Given the description of an element on the screen output the (x, y) to click on. 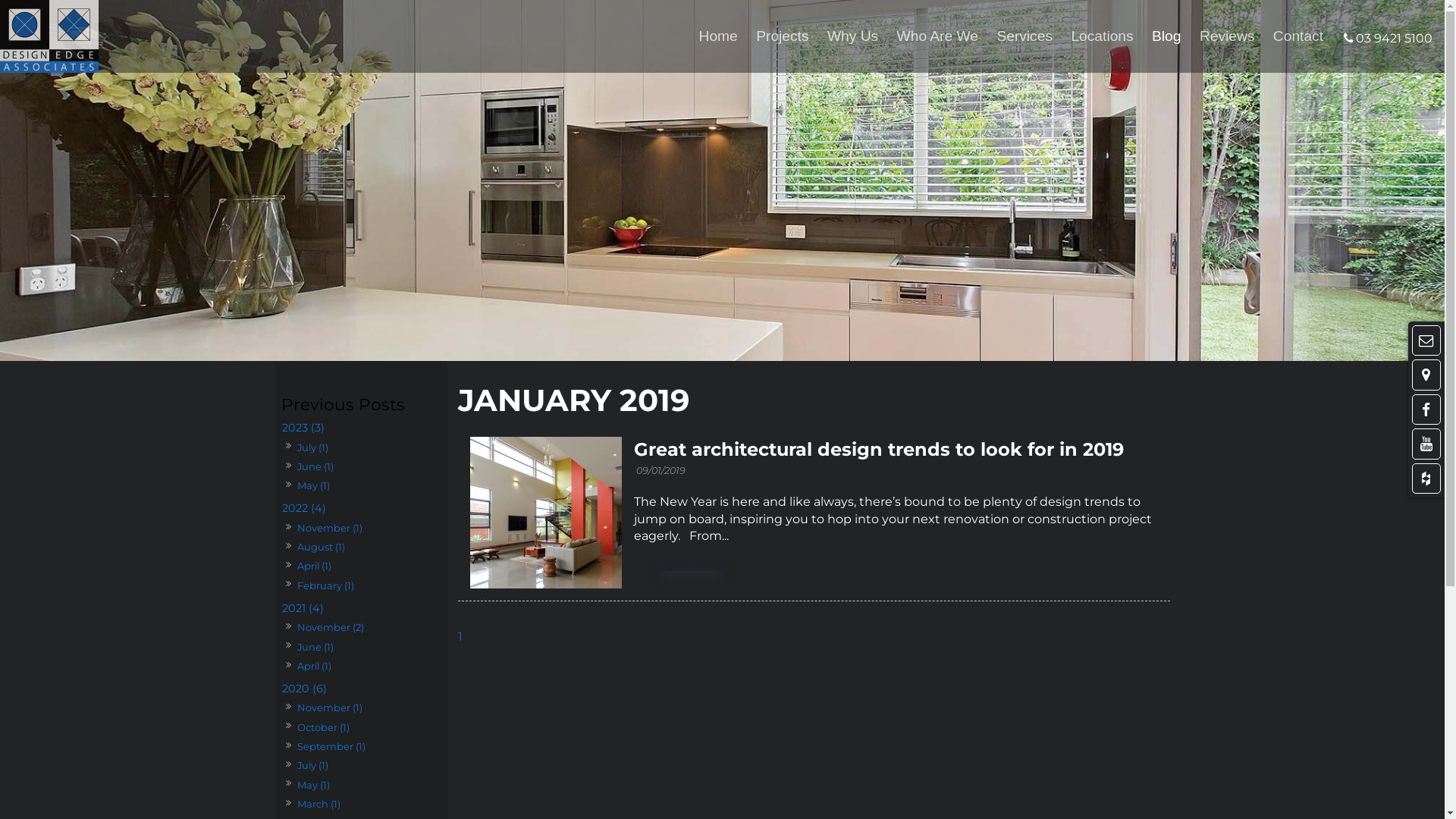
July (1) Element type: text (312, 765)
2020 (6) Element type: text (359, 687)
November (1) Element type: text (329, 527)
Projects Element type: text (781, 35)
April (1) Element type: text (313, 665)
August (1) Element type: text (320, 546)
Services Element type: text (1024, 35)
2021 (4) Element type: text (359, 607)
March (1) Element type: text (318, 803)
Why Us Element type: text (852, 35)
October (1) Element type: text (322, 726)
Read More Element type: text (690, 564)
Who Are We Element type: text (937, 35)
February (1) Element type: text (324, 584)
April (1) Element type: text (313, 565)
Home Element type: text (718, 35)
Read More Element type: text (691, 564)
Contact Element type: text (1297, 35)
July (1) Element type: text (312, 446)
May (1) Element type: text (312, 485)
November (1) Element type: text (329, 707)
Blog Element type: text (1166, 35)
Locations Element type: text (1101, 35)
September (1) Element type: text (330, 746)
November (2) Element type: text (329, 627)
June (1) Element type: text (314, 466)
2022 (4) Element type: text (359, 508)
1 Element type: text (460, 636)
May (1) Element type: text (312, 784)
Reviews Element type: text (1227, 35)
2023 (3) Element type: text (359, 427)
June (1) Element type: text (314, 646)
